Given the description of an element on the screen output the (x, y) to click on. 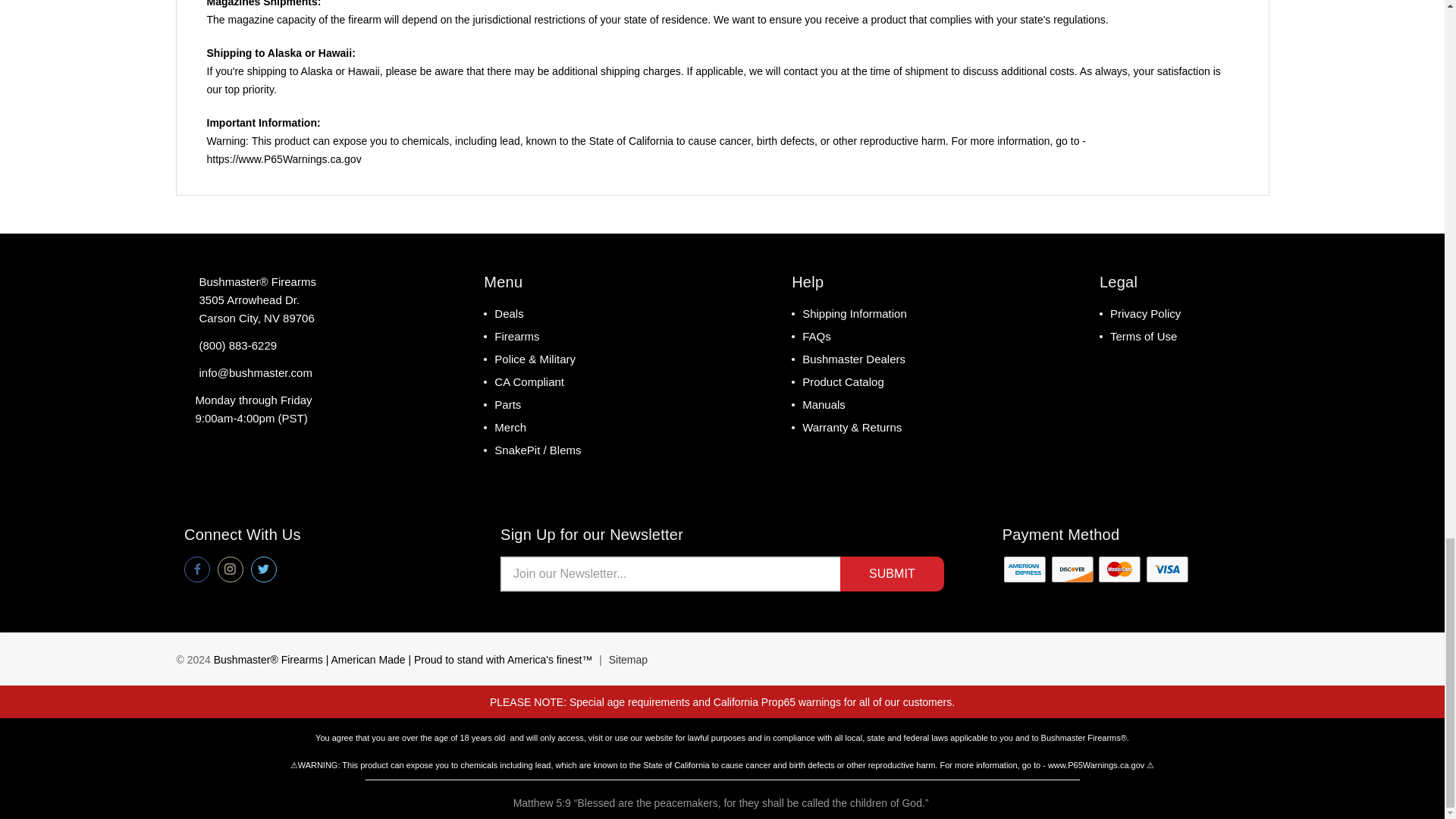
submit (891, 573)
